Given the description of an element on the screen output the (x, y) to click on. 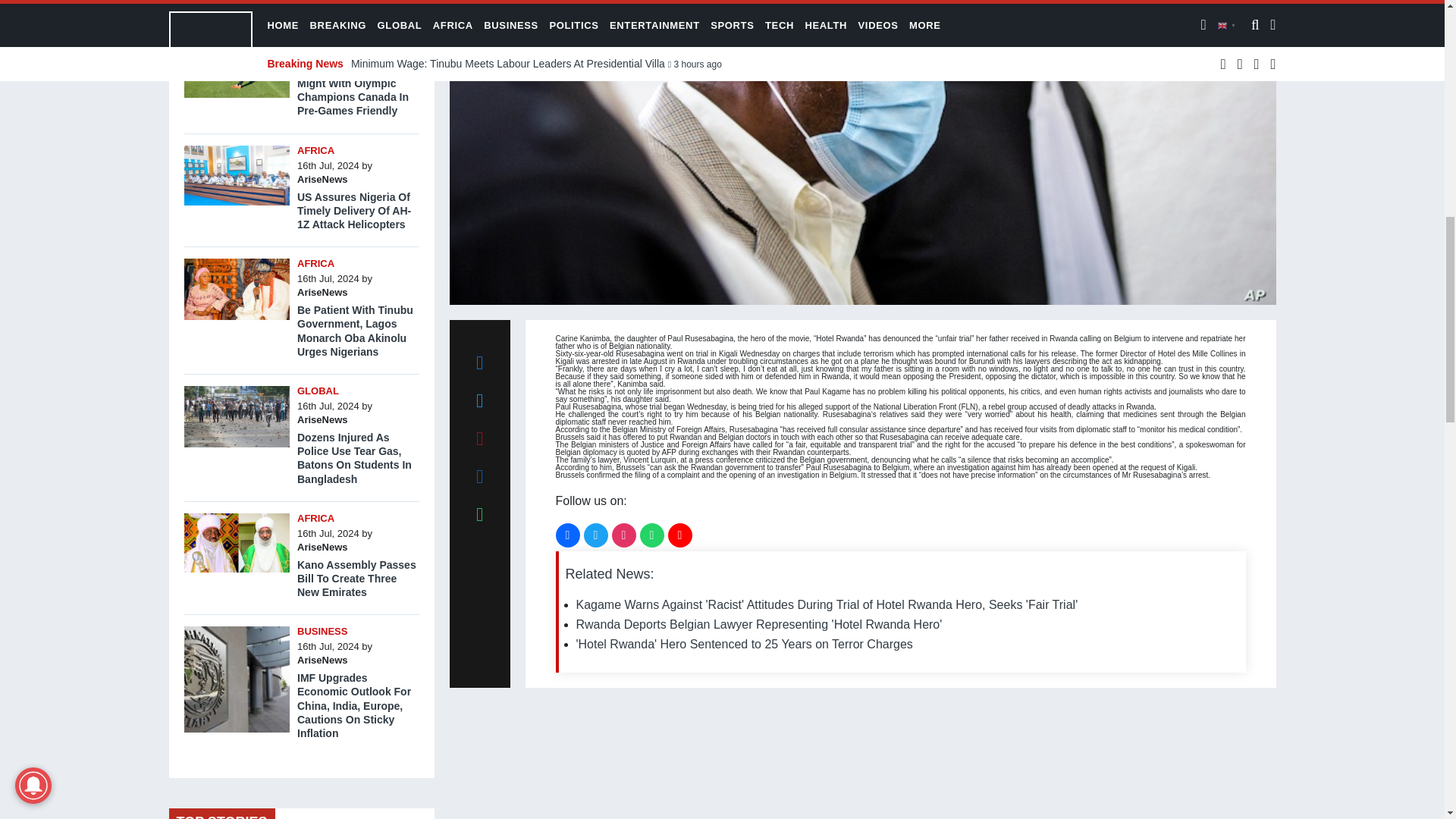
Posts by AriseNews (322, 292)
'Hotel Rwanda' Hero Sentenced to 25 Years on Terror Charges (744, 644)
Instagram (622, 535)
AriseNews (322, 179)
Posts by AriseNews (322, 51)
SPORTS (317, 22)
Twitter (595, 535)
Posts by AriseNews (322, 179)
Facebook (566, 535)
GLOBAL (318, 390)
AFRICA (315, 150)
